Given the description of an element on the screen output the (x, y) to click on. 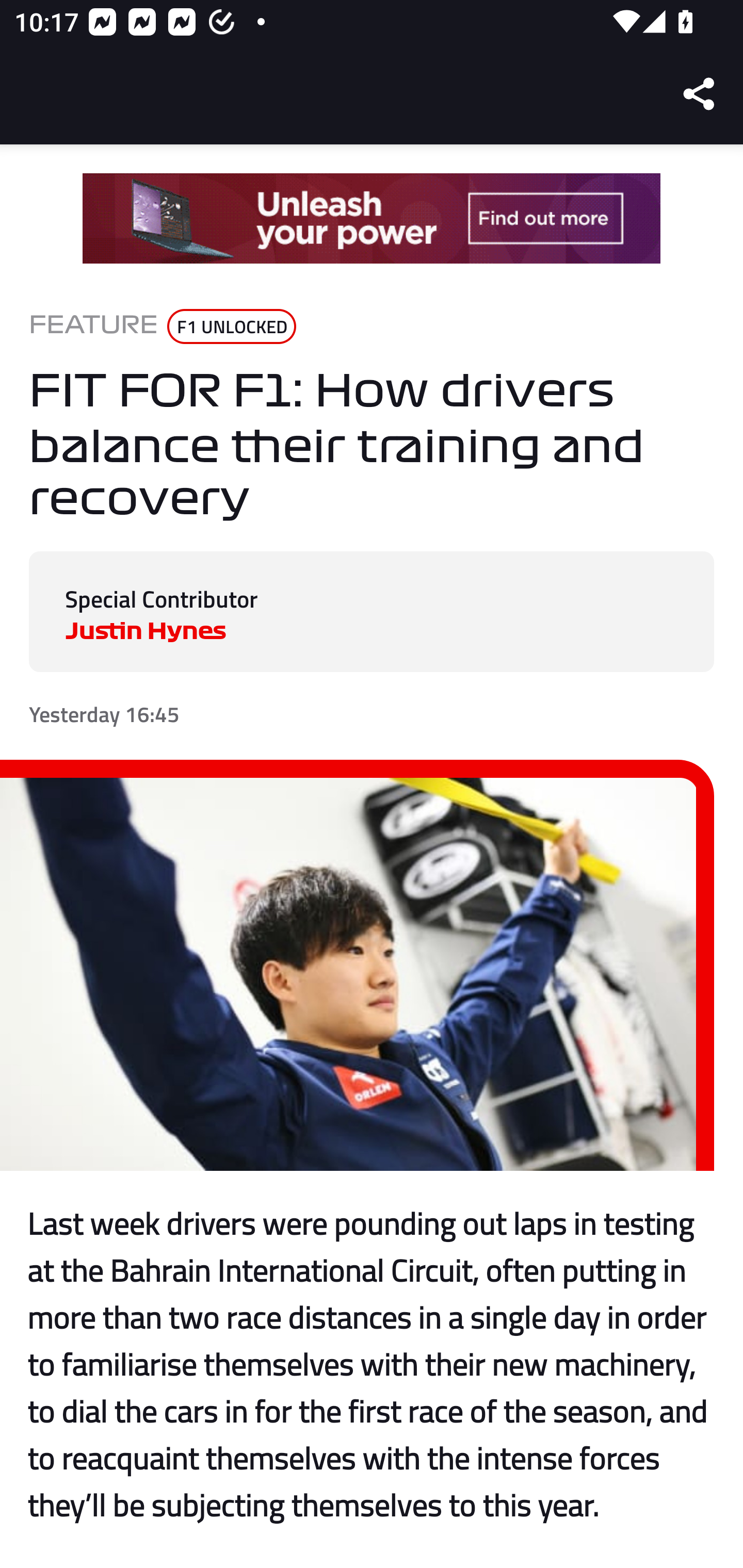
Share (699, 93)
it (371, 218)
